Given the description of an element on the screen output the (x, y) to click on. 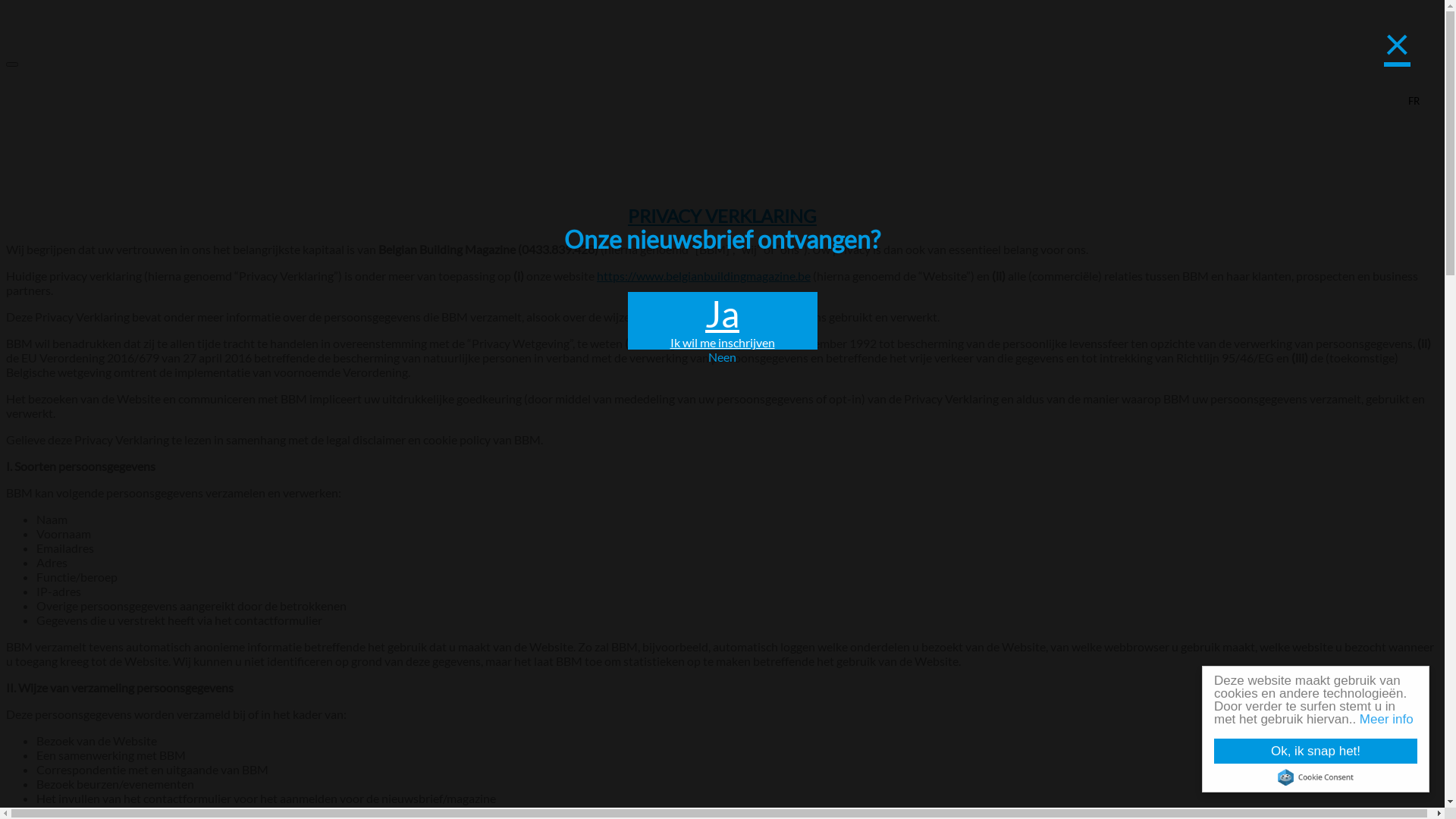
Meer info Element type: text (1386, 719)
FR Element type: text (1413, 100)
Ok, ik snap het! Element type: text (1315, 750)
Neen Element type: text (722, 356)
Ja
Ik wil me inschrijven Element type: text (722, 320)
Cookie Consent plugin for the EU cookie law Element type: text (1315, 776)
https://www.belgianbuildingmagazine.be Element type: text (703, 275)
BBM
BELGIAN BUILDING MAGAZINE Element type: text (722, 63)
